Given the description of an element on the screen output the (x, y) to click on. 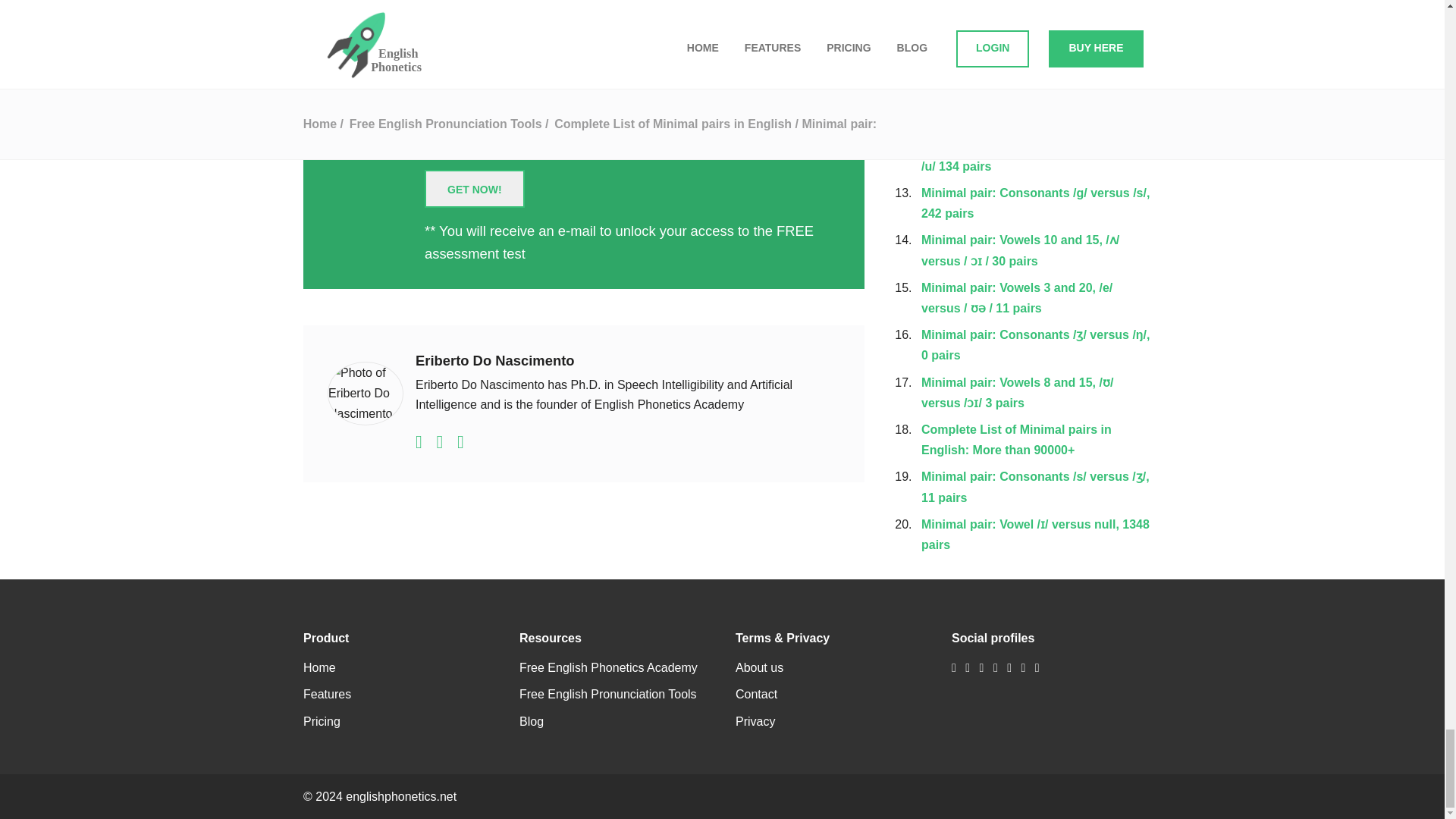
Home (319, 667)
Get now! (474, 188)
Pricing (321, 721)
Get now! (474, 188)
Features (326, 694)
